Given the description of an element on the screen output the (x, y) to click on. 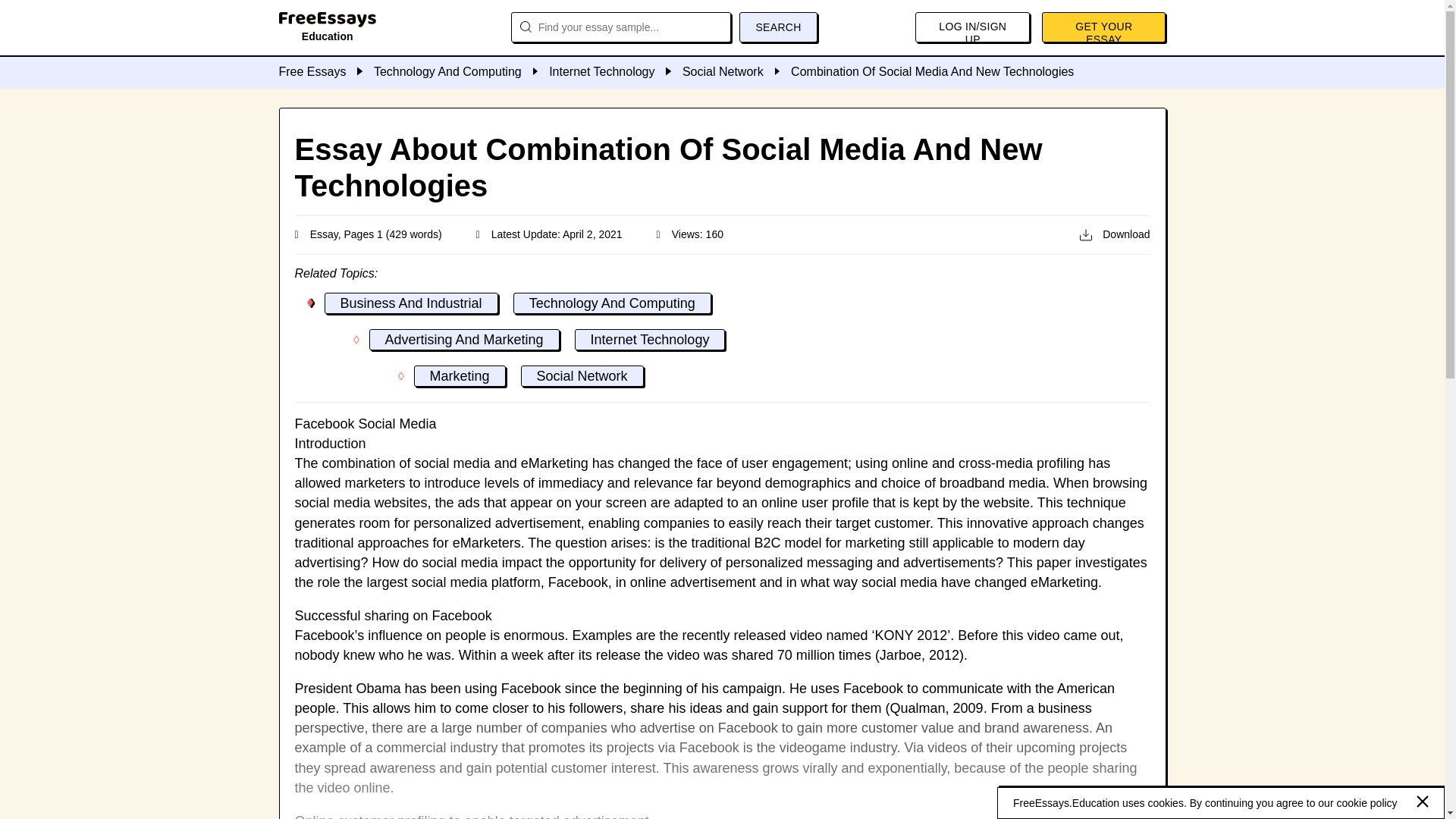
Internet Technology (650, 339)
Business And Industrial (410, 302)
Social Network (736, 71)
Advertising And Marketing (463, 339)
Free Essays (326, 71)
Social Network (582, 375)
Marketing (459, 375)
Education (327, 30)
Internet Technology (615, 71)
Technology And Computing (612, 302)
